Given the description of an element on the screen output the (x, y) to click on. 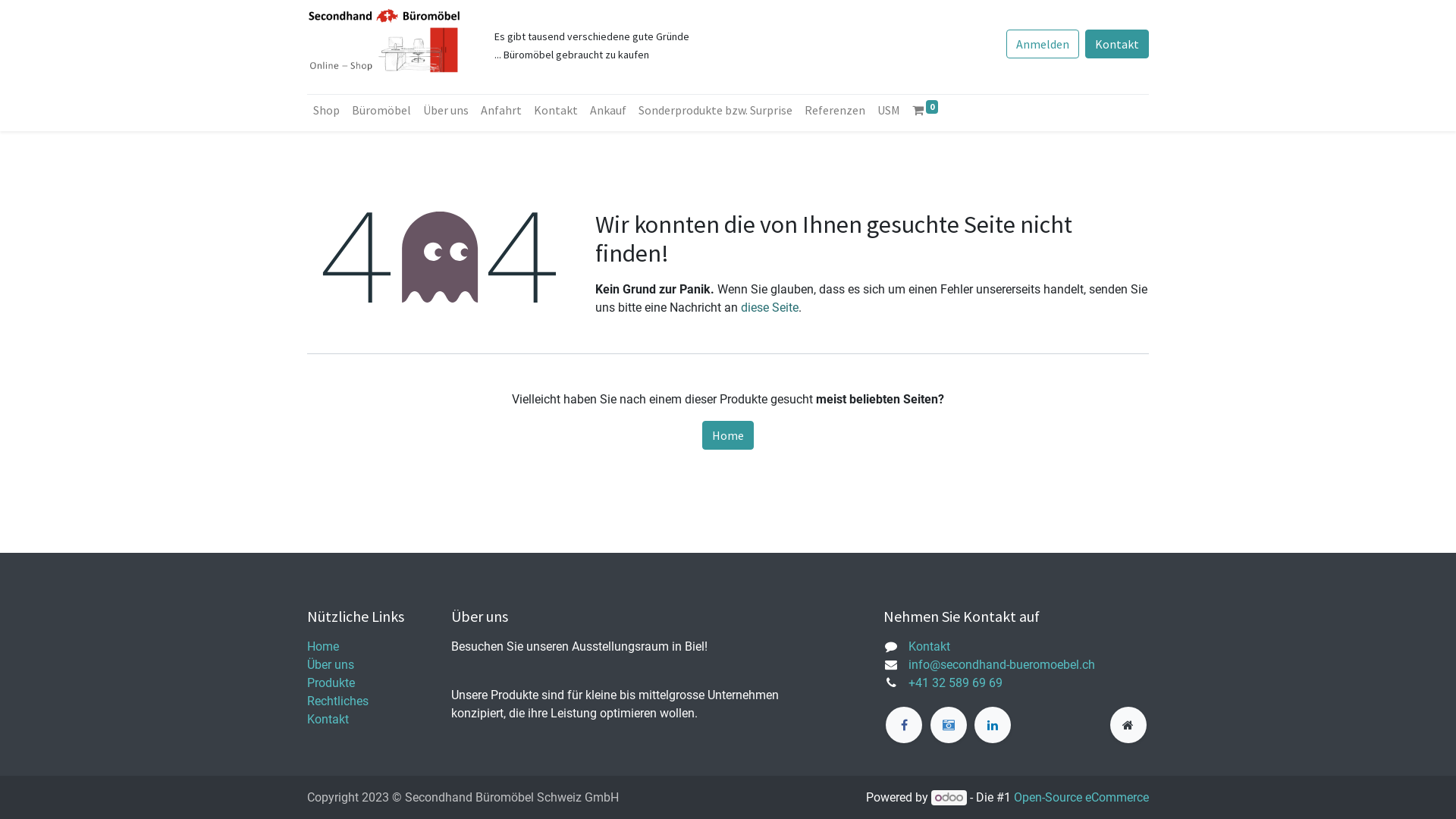
info@secondhand-bueromoebel.ch Element type: text (1001, 664)
Ankauf Element type: text (607, 109)
USM Element type: text (888, 109)
Kontakt Element type: text (327, 719)
Sonderprodukte bzw. Surprise Element type: text (715, 109)
Home Element type: text (322, 646)
Open-Source eCommerce Element type: text (1080, 797)
Shop Element type: text (326, 109)
Rechtliches Element type: text (337, 700)
Produkte Element type: text (330, 682)
Referenzen Element type: text (834, 109)
Home Element type: text (727, 434)
Kontakt Element type: text (555, 109)
Kontakt Element type: text (929, 646)
Kontakt Element type: text (1116, 43)
diese Seite Element type: text (769, 307)
Anmelden Element type: text (1042, 43)
Anfahrt Element type: text (500, 109)
0 Element type: text (925, 109)
+41 32 589 69 69 Element type: text (955, 682)
